Given the description of an element on the screen output the (x, y) to click on. 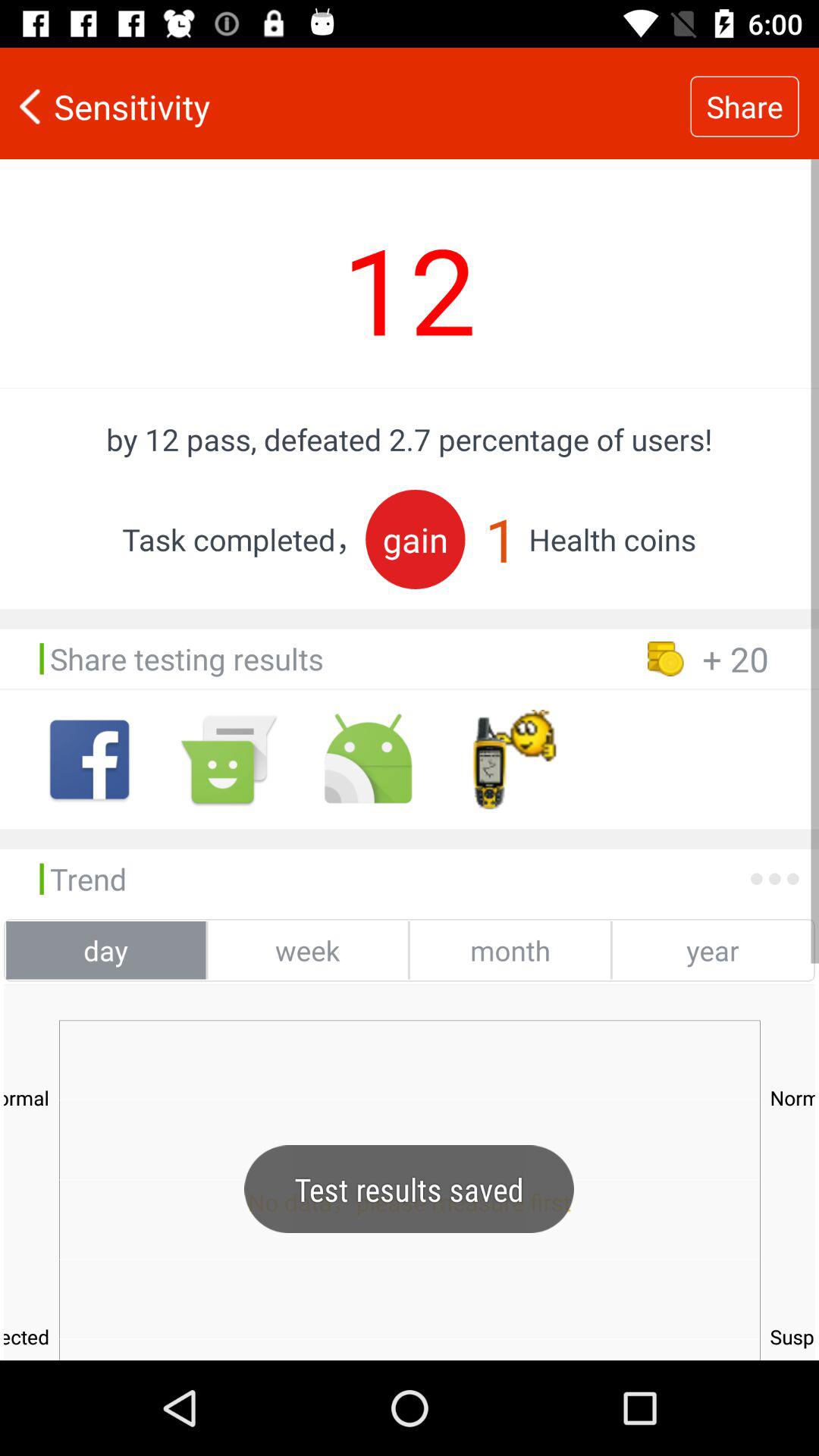
andoid (228, 759)
